Given the description of an element on the screen output the (x, y) to click on. 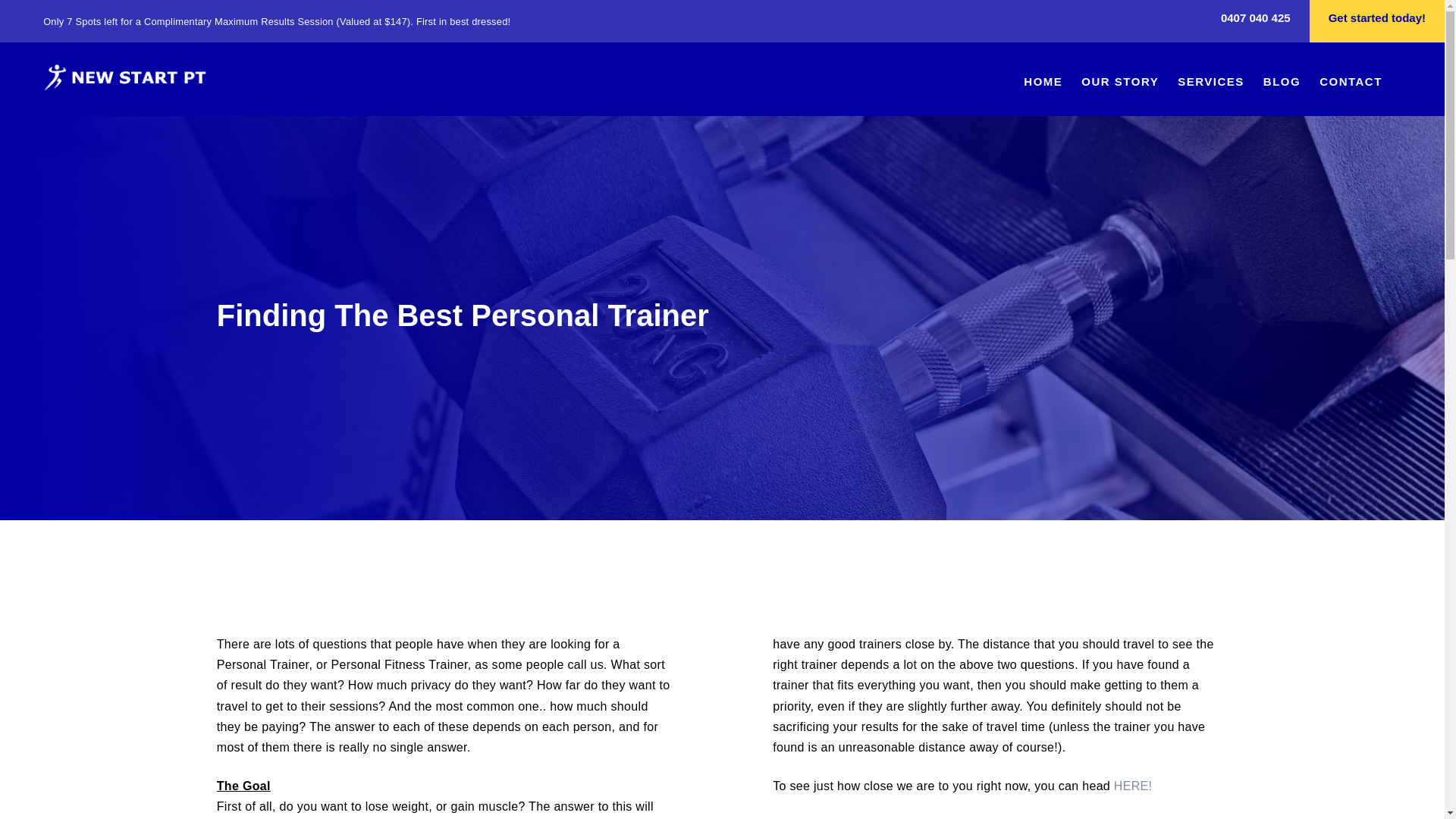
CONTACT Element type: text (1350, 85)
Get started today! Element type: text (1376, 21)
BLOG Element type: text (1281, 85)
OUR STORY Element type: text (1119, 85)
HERE! Element type: text (1132, 785)
HOME Element type: text (1042, 85)
0407 040 425 Element type: text (1255, 21)
New Start PT Element type: text (125, 77)
SERVICES Element type: text (1210, 85)
